Given the description of an element on the screen output the (x, y) to click on. 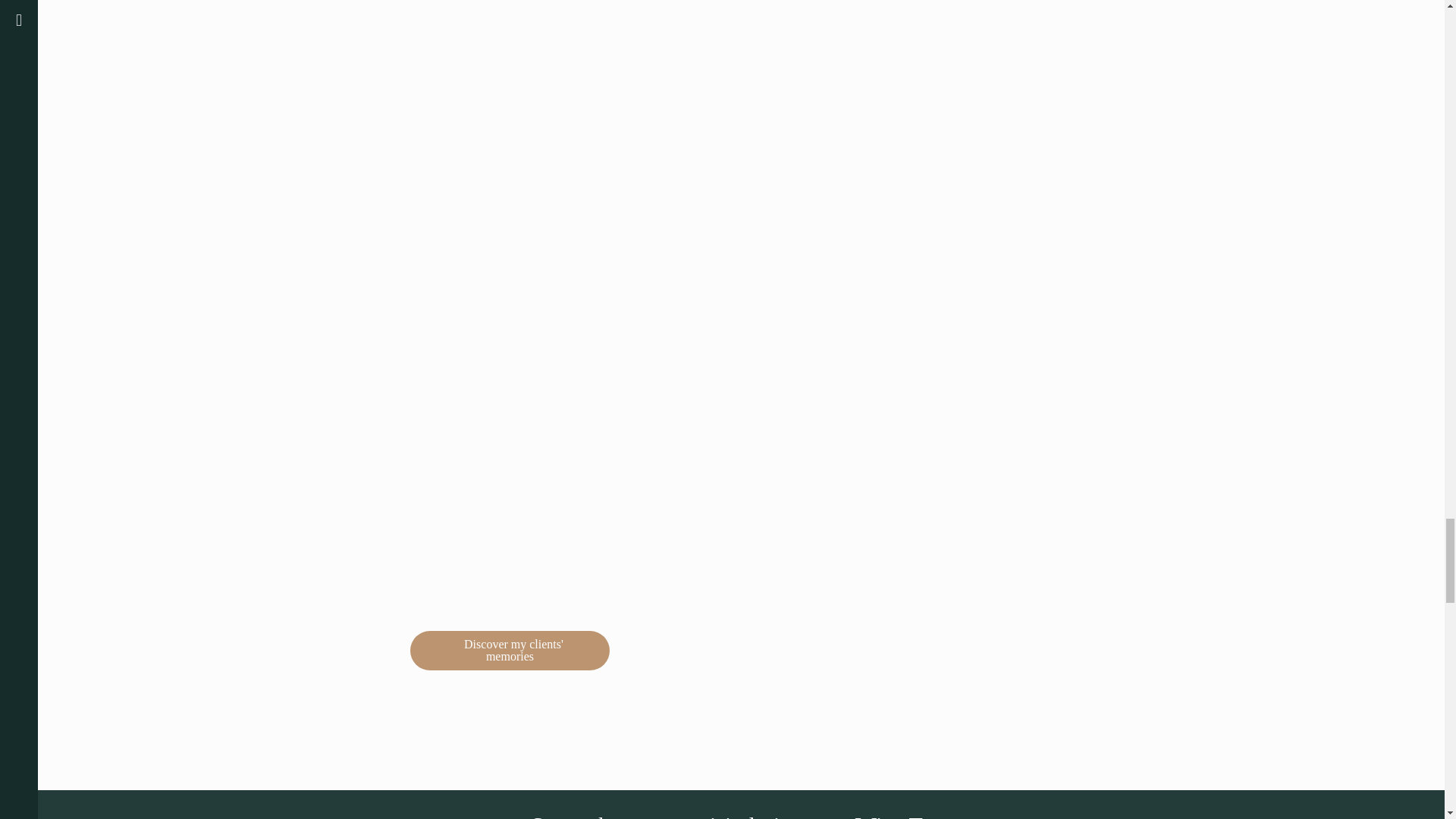
Discover my clients' memories (510, 650)
